Given the description of an element on the screen output the (x, y) to click on. 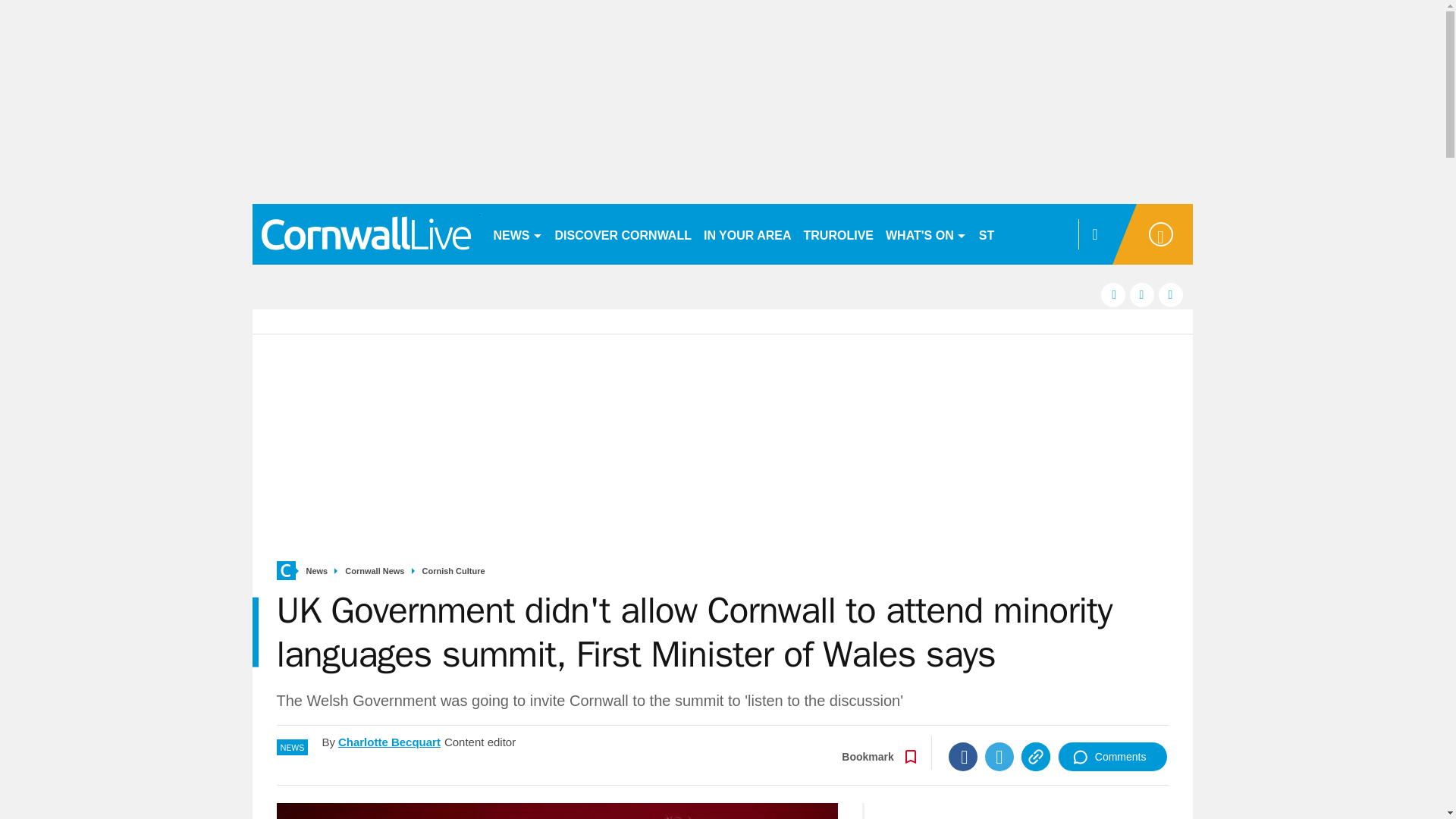
IN YOUR AREA (747, 233)
Comments (1112, 756)
Twitter (999, 756)
facebook (1112, 294)
ST AUSTELL (1015, 233)
DISCOVER CORNWALL (622, 233)
Facebook (962, 756)
twitter (1141, 294)
instagram (1170, 294)
TRUROLIVE (838, 233)
WHAT'S ON (925, 233)
cornwalllive (365, 233)
NEWS (517, 233)
